Given the description of an element on the screen output the (x, y) to click on. 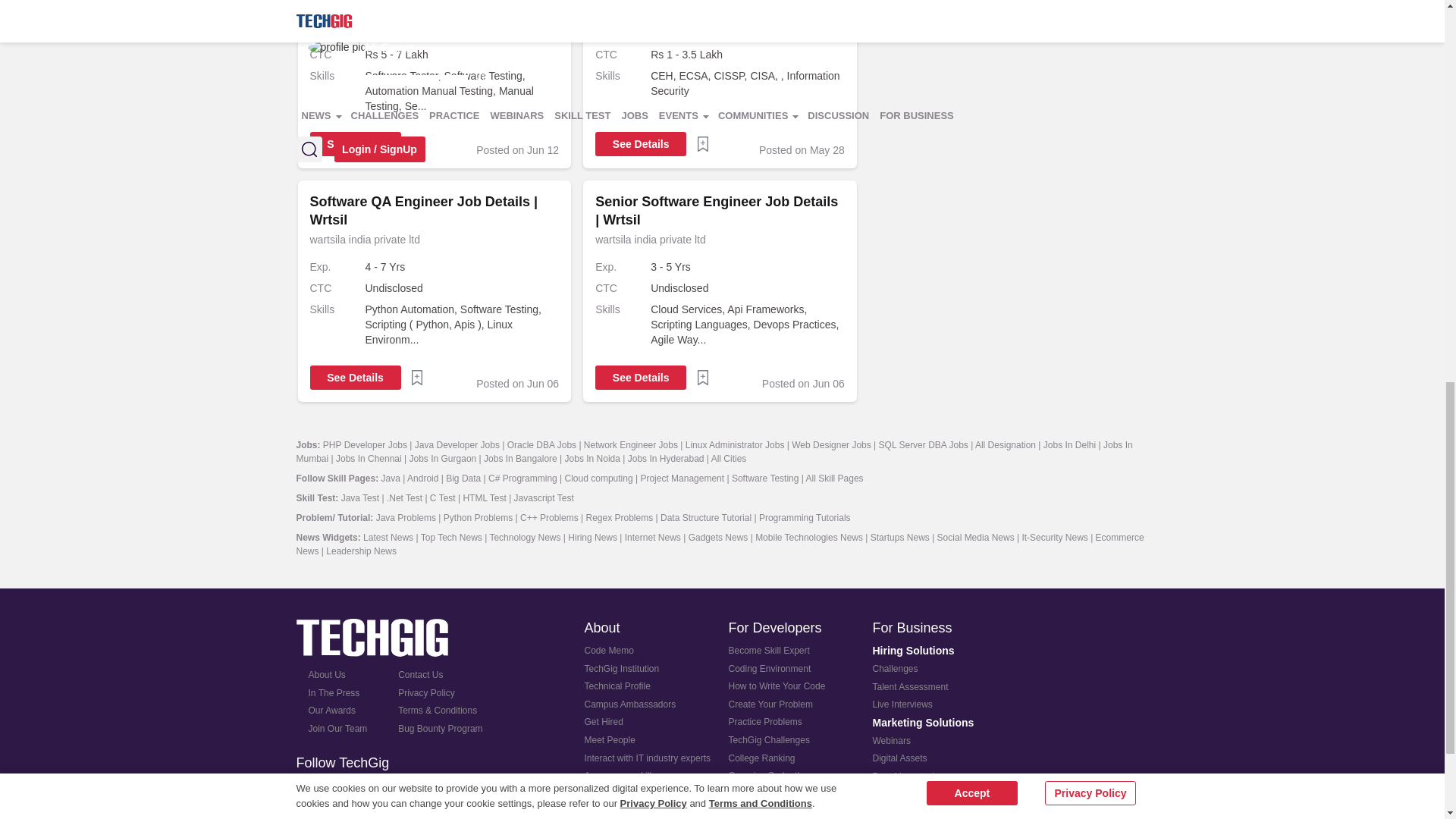
CEH, ECSA, CISSP, CISA, , Information Security (747, 82)
cloud services, api frameworks, scripting languages, de... (747, 324)
Software tester, Software Testing, Automation Manual Te... (462, 90)
